Given the description of an element on the screen output the (x, y) to click on. 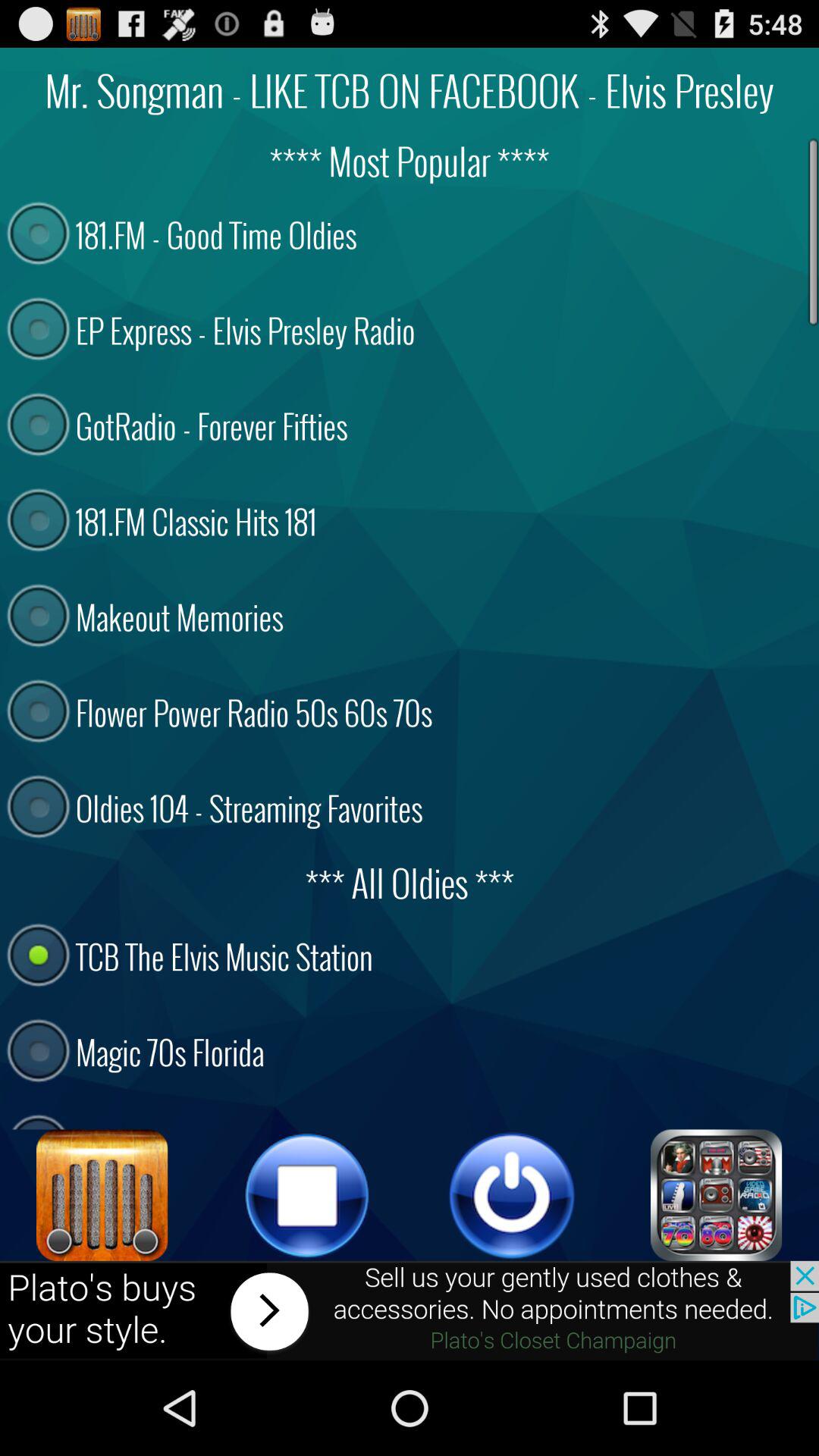
click advertisement (409, 1310)
